Given the description of an element on the screen output the (x, y) to click on. 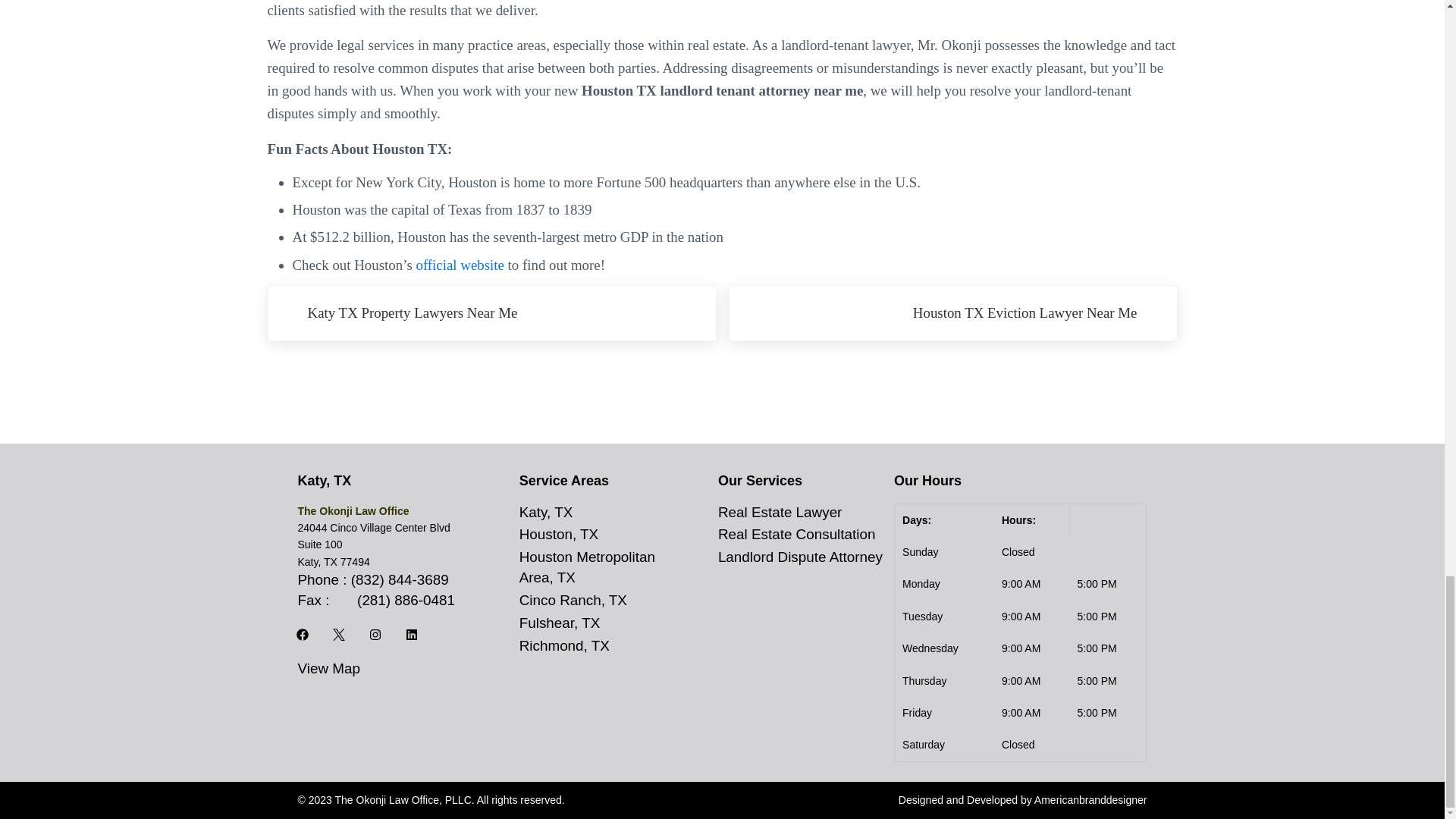
Houston TX Eviction Lawyer Near Me (952, 313)
official website (458, 264)
Katy TX Property Lawyers Near Me (491, 313)
